Given the description of an element on the screen output the (x, y) to click on. 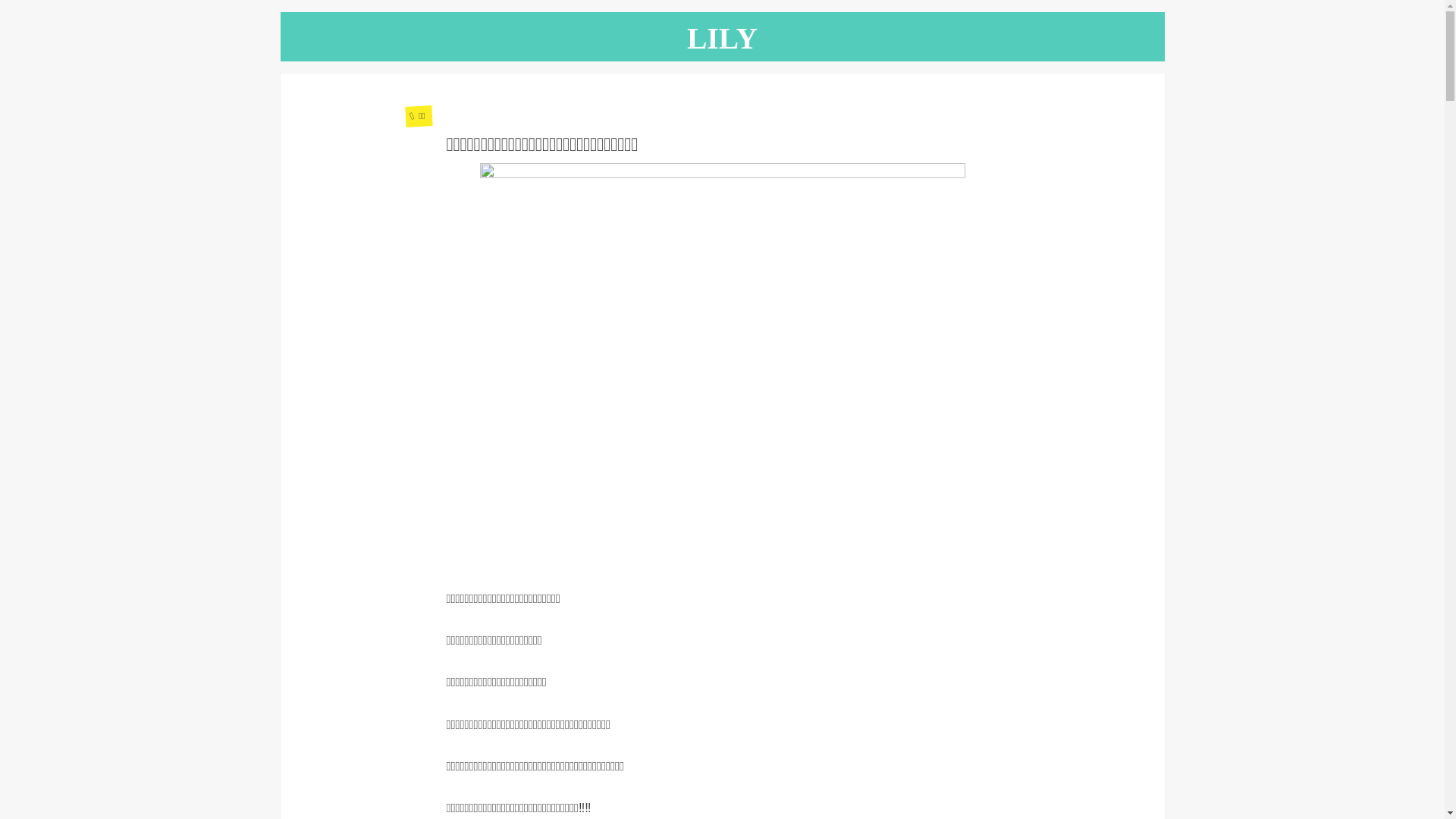
LILY Element type: text (722, 38)
